Given the description of an element on the screen output the (x, y) to click on. 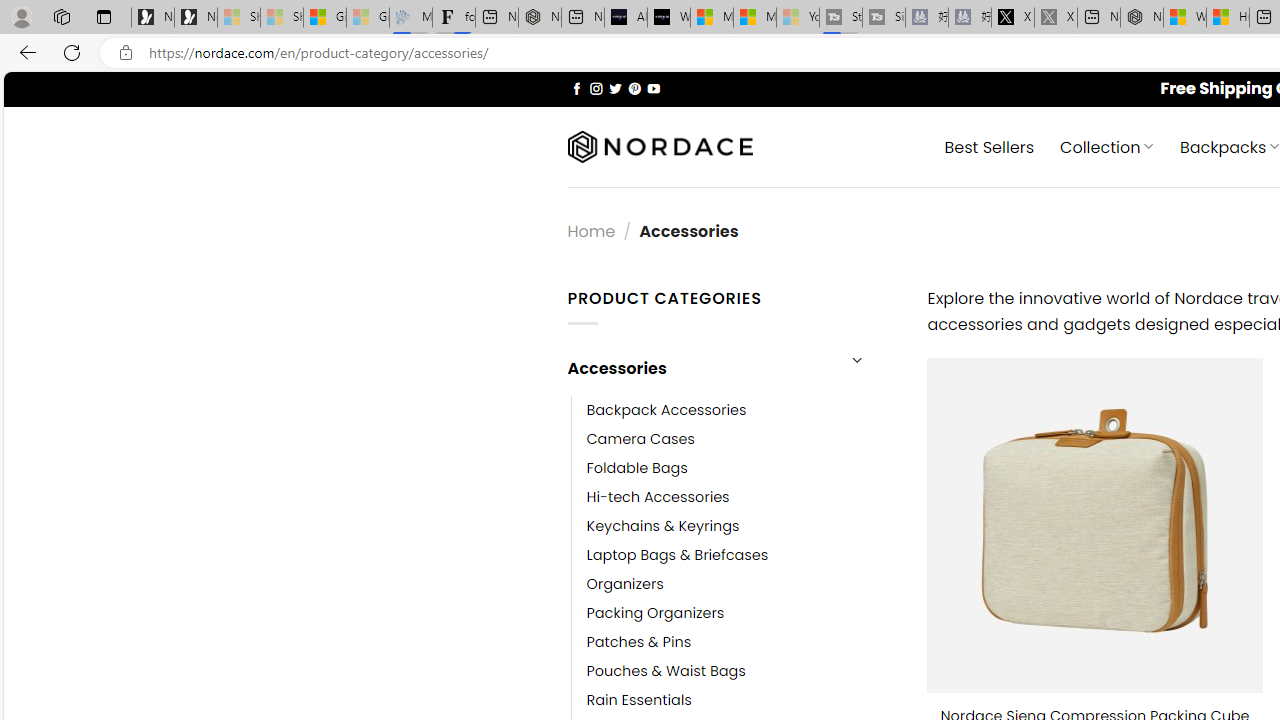
Backpack Accessories (742, 409)
Streaming Coverage | T3 - Sleeping (840, 17)
 Best Sellers (989, 146)
Nordace - #1 Japanese Best-Seller - Siena Smart Backpack (539, 17)
Organizers (742, 584)
Microsoft Start Sports (712, 17)
Accessories (700, 368)
  Best Sellers (989, 146)
Patches & Pins (742, 642)
Camera Cases (742, 439)
Hi-tech Accessories (657, 496)
Pouches & Waist Bags (666, 671)
